Given the description of an element on the screen output the (x, y) to click on. 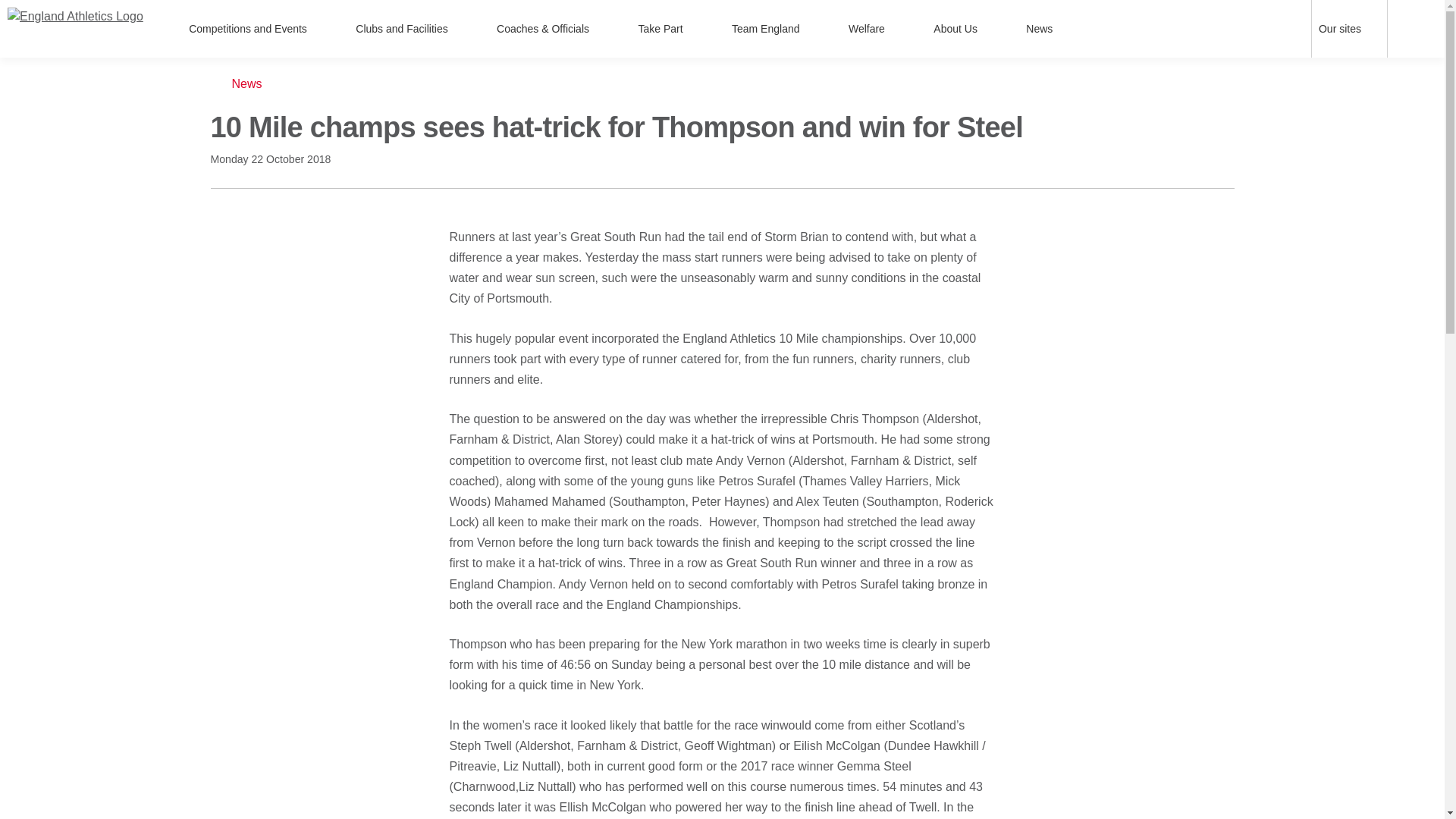
chevron-right (319, 28)
Competitions and Events (256, 28)
chevron-right (897, 28)
chevron-right (990, 28)
chevron-right (811, 28)
Clubs and Facilities (410, 28)
chevron-right (601, 28)
chevron-right (1373, 28)
England Athletics (74, 28)
